Given the description of an element on the screen output the (x, y) to click on. 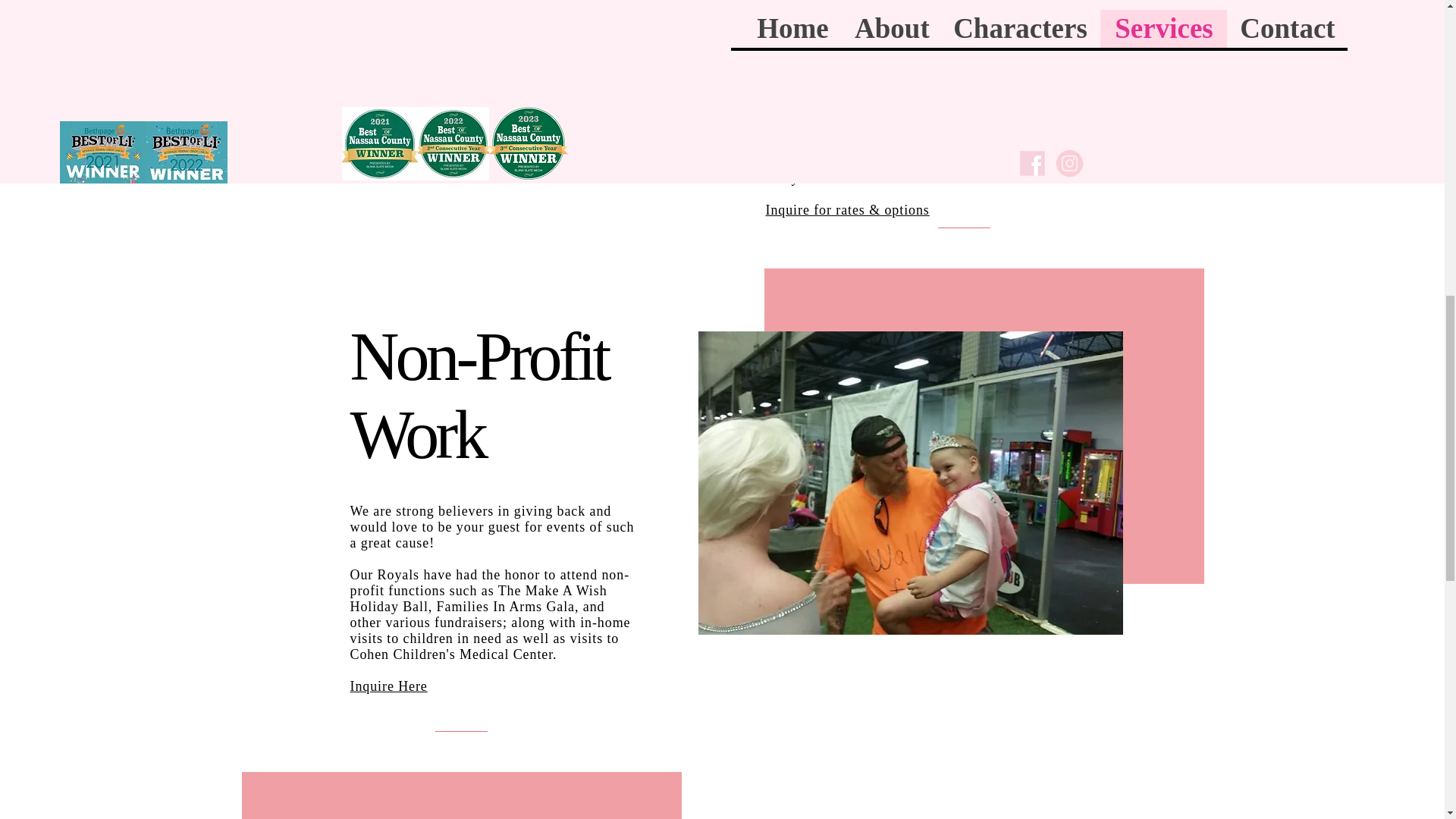
Inquire Here (389, 685)
